Given the description of an element on the screen output the (x, y) to click on. 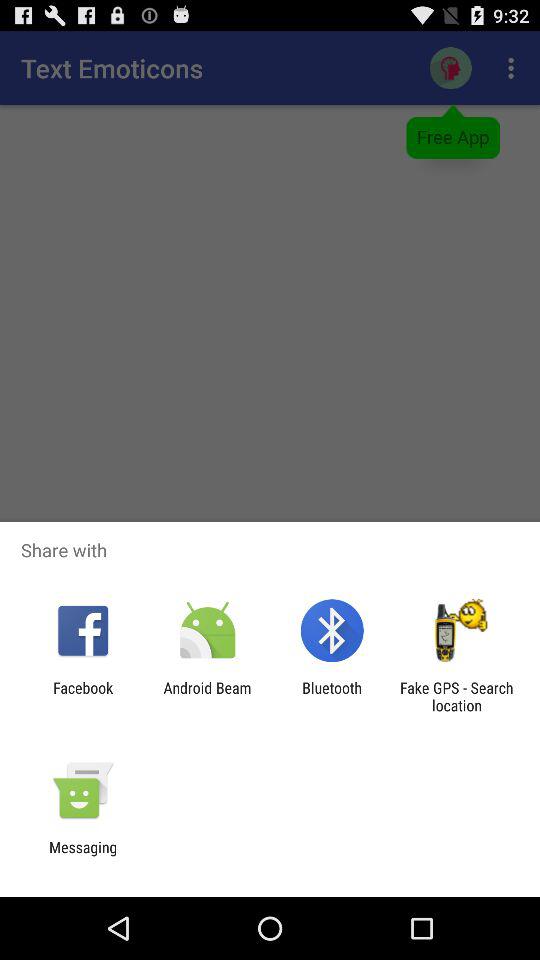
swipe to the facebook app (83, 696)
